Given the description of an element on the screen output the (x, y) to click on. 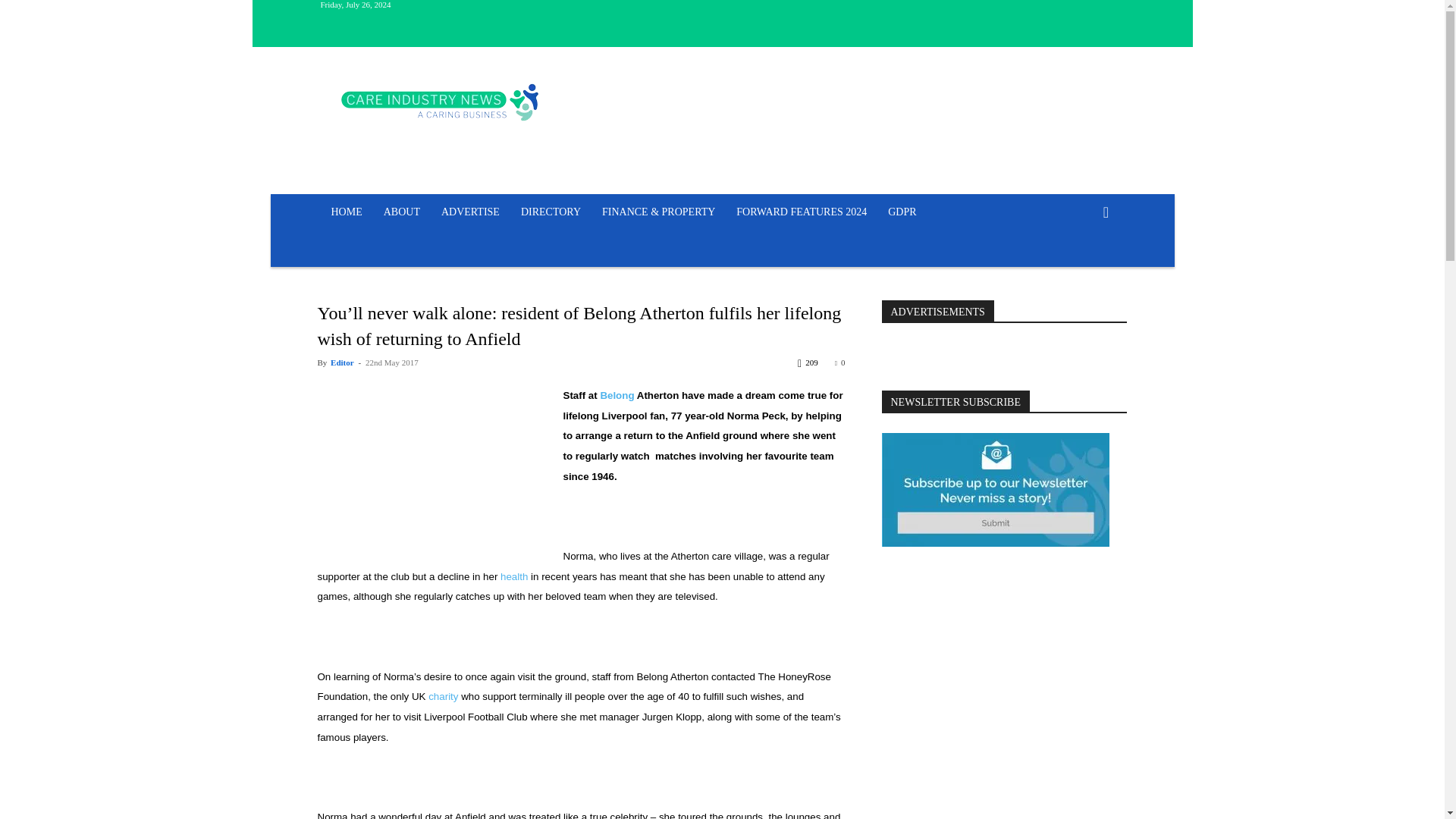
GDPR (901, 212)
Belong (616, 395)
DIRECTORY (551, 212)
charity (443, 696)
Care Industry News (439, 101)
Editor (341, 361)
FORWARD FEATURES 2024 (801, 212)
health (513, 576)
0 (839, 361)
HOME (346, 212)
ADVERTISE (470, 212)
ABOUT (401, 212)
